Given the description of an element on the screen output the (x, y) to click on. 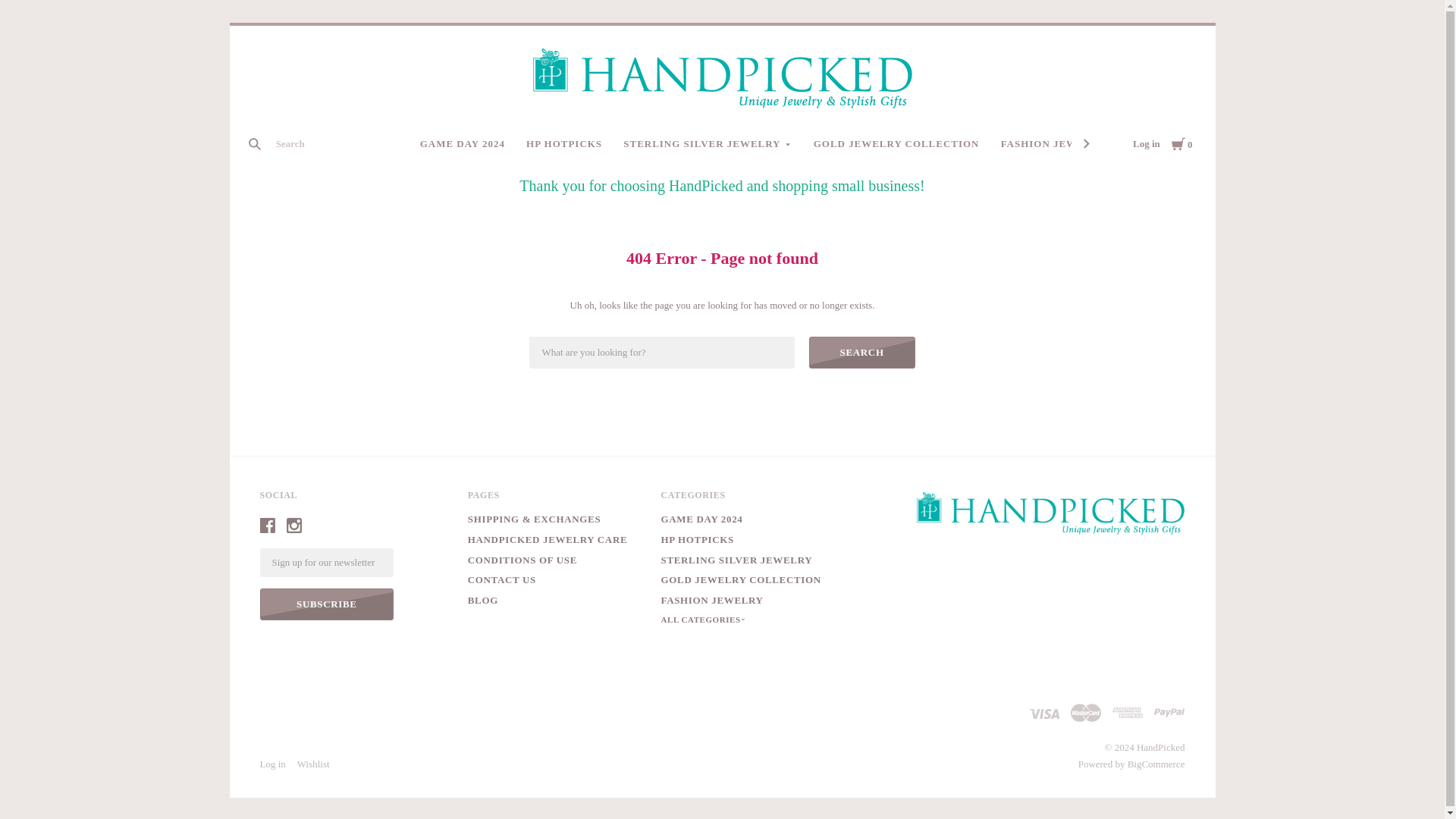
FASHION JEWELRY (1058, 143)
GAME DAY 2024 (462, 143)
Subscribe (326, 603)
MONOGRAM BOUTIQUE (1211, 143)
STERLING SILVER JEWELRY (707, 143)
HP HOTPICKS (564, 143)
GOLD JEWELRY COLLECTION (896, 143)
Search (862, 352)
